Given the description of an element on the screen output the (x, y) to click on. 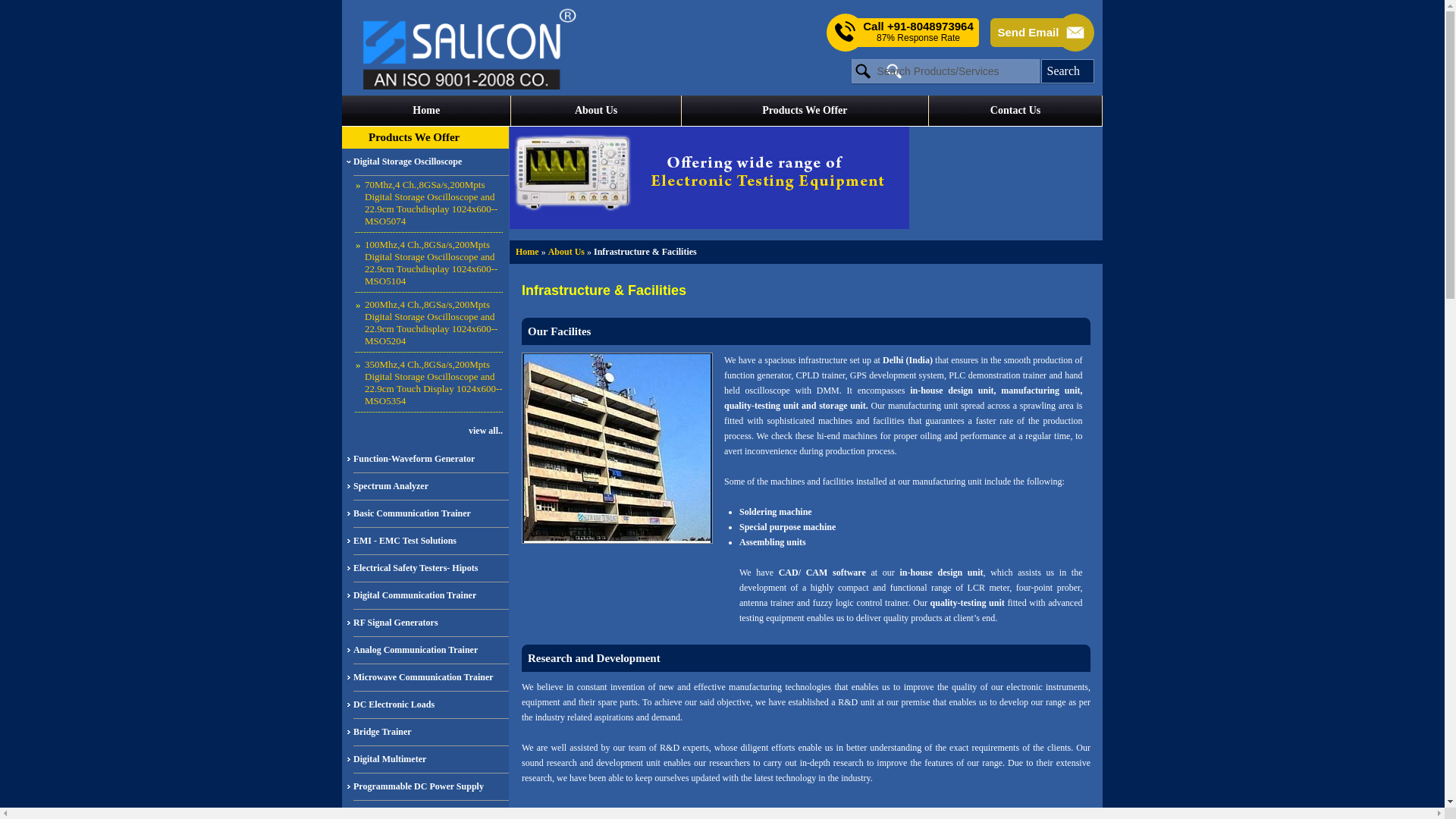
Products We Offer (414, 137)
Home (426, 110)
Basic Communication Trainer (430, 513)
Products We Offer (804, 110)
About Us (595, 110)
view all.. (422, 430)
Send SMS Free (917, 32)
Electrical Safety Testers- Hipots (430, 568)
Home (526, 251)
Digital Storage Oscilloscope (430, 162)
